Given the description of an element on the screen output the (x, y) to click on. 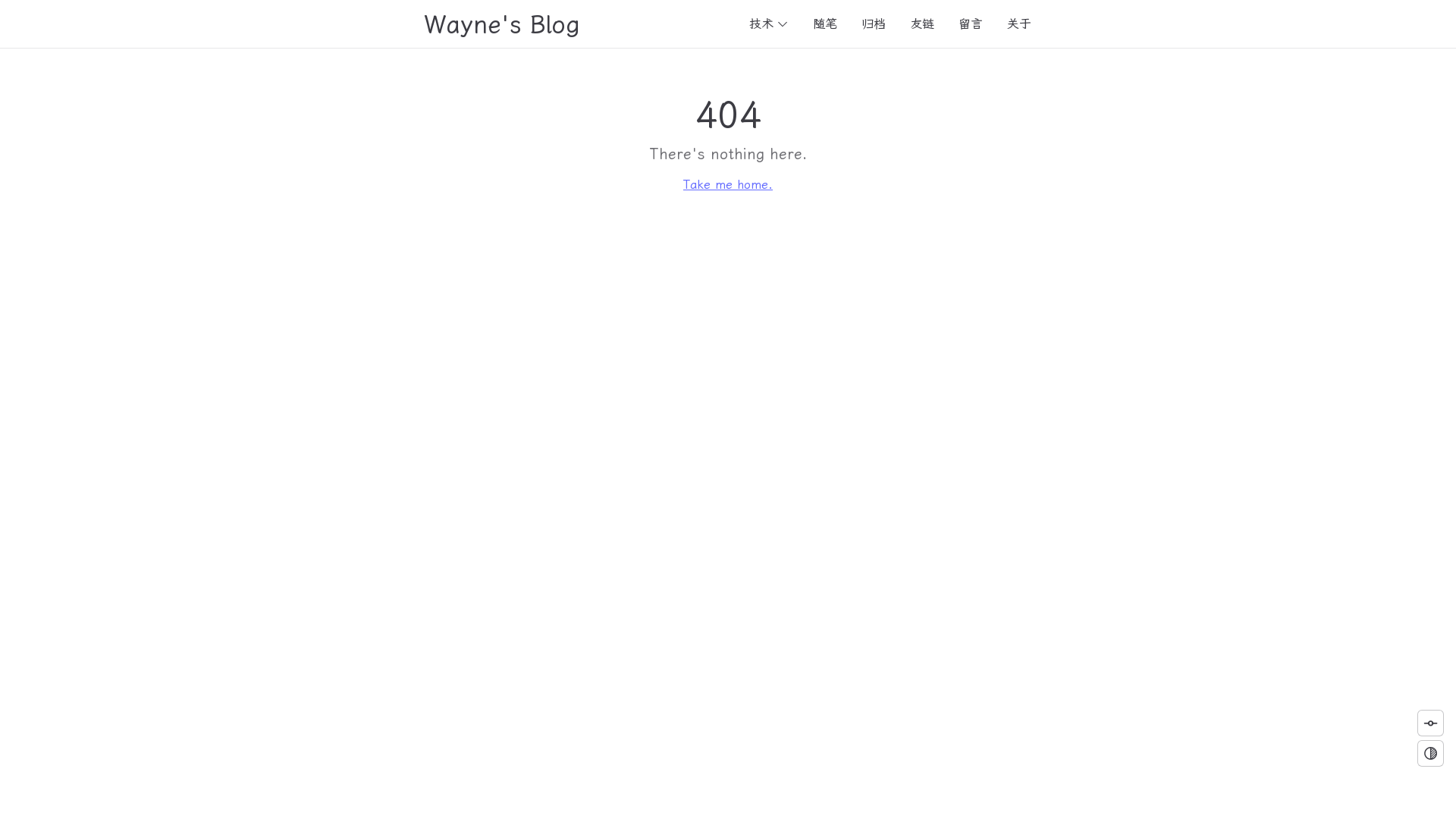
commit Element type: text (1430, 722)
Take me home. Element type: text (727, 184)
Wayne's Blog Element type: text (502, 23)
